Given the description of an element on the screen output the (x, y) to click on. 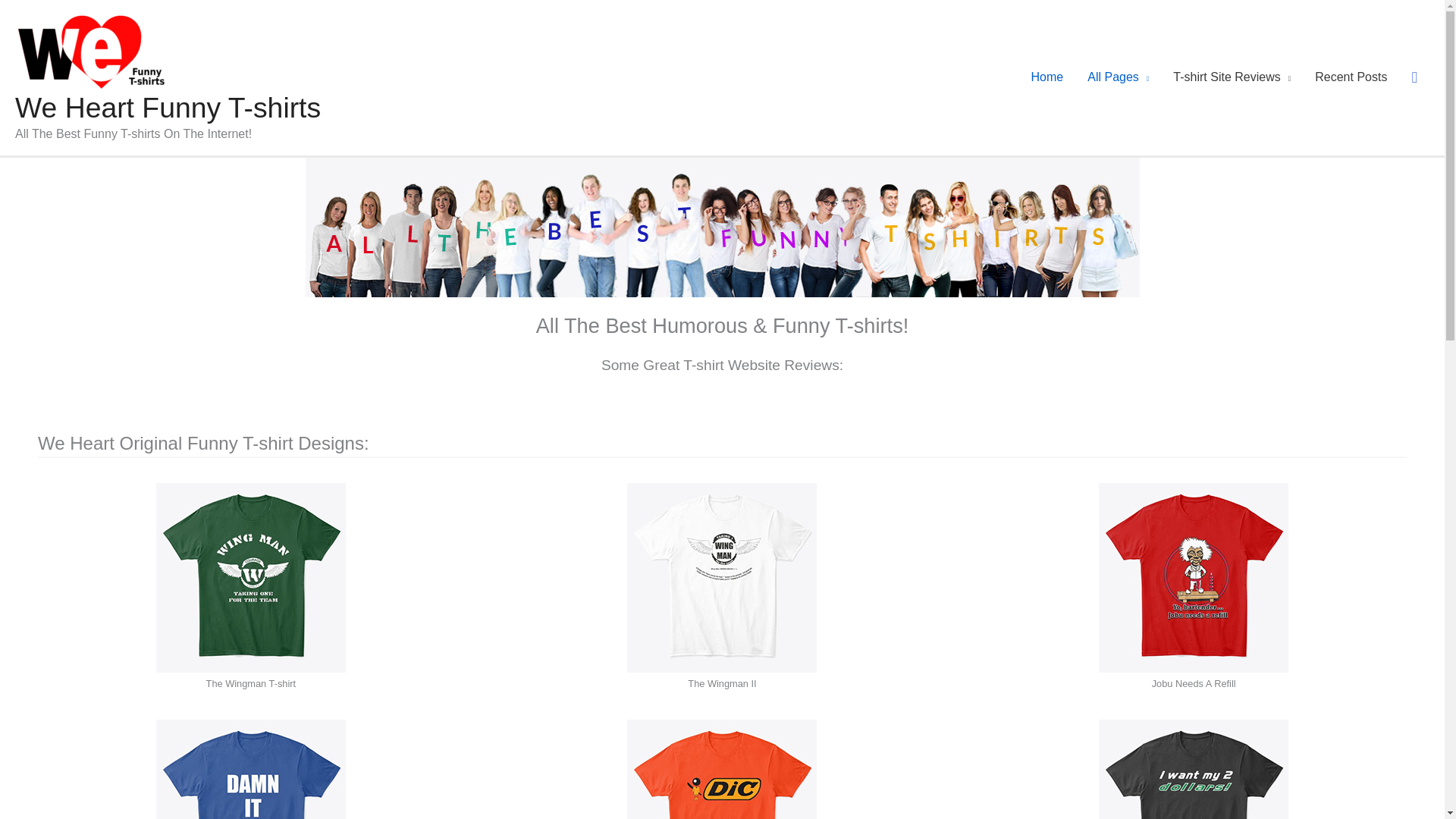
All Pages (1117, 77)
We Heart Funny T-shirts (167, 107)
Search (18, 17)
Home (1047, 77)
T-shirt Site Reviews (1231, 77)
Recent Posts (1351, 77)
